Given the description of an element on the screen output the (x, y) to click on. 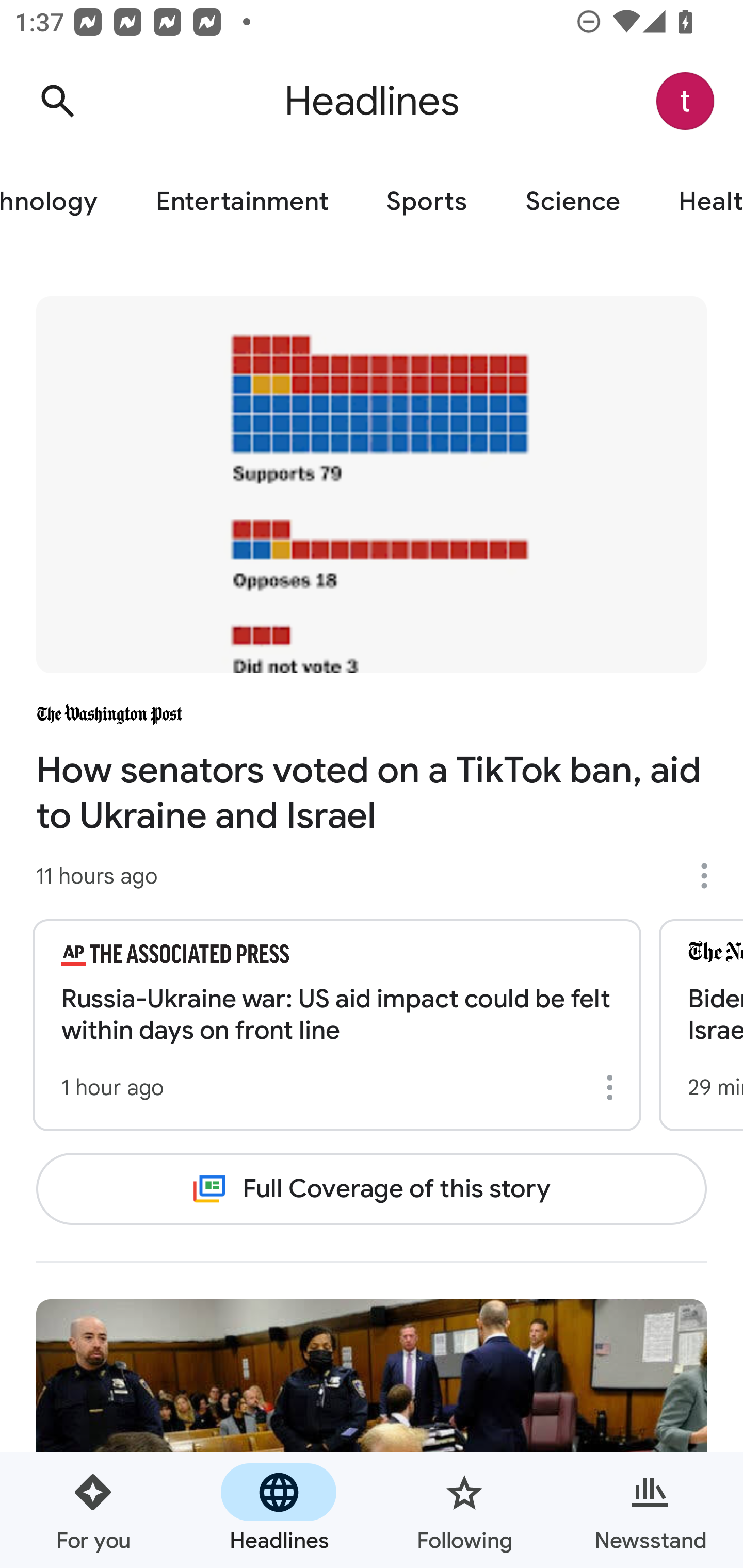
Search (57, 100)
Technology (63, 202)
Entertainment (241, 202)
Sports (426, 202)
Science (572, 202)
More options (711, 875)
More options (613, 1086)
Full Coverage of this story (371, 1188)
For you (92, 1509)
Headlines (278, 1509)
Following (464, 1509)
Newsstand (650, 1509)
